Given the description of an element on the screen output the (x, y) to click on. 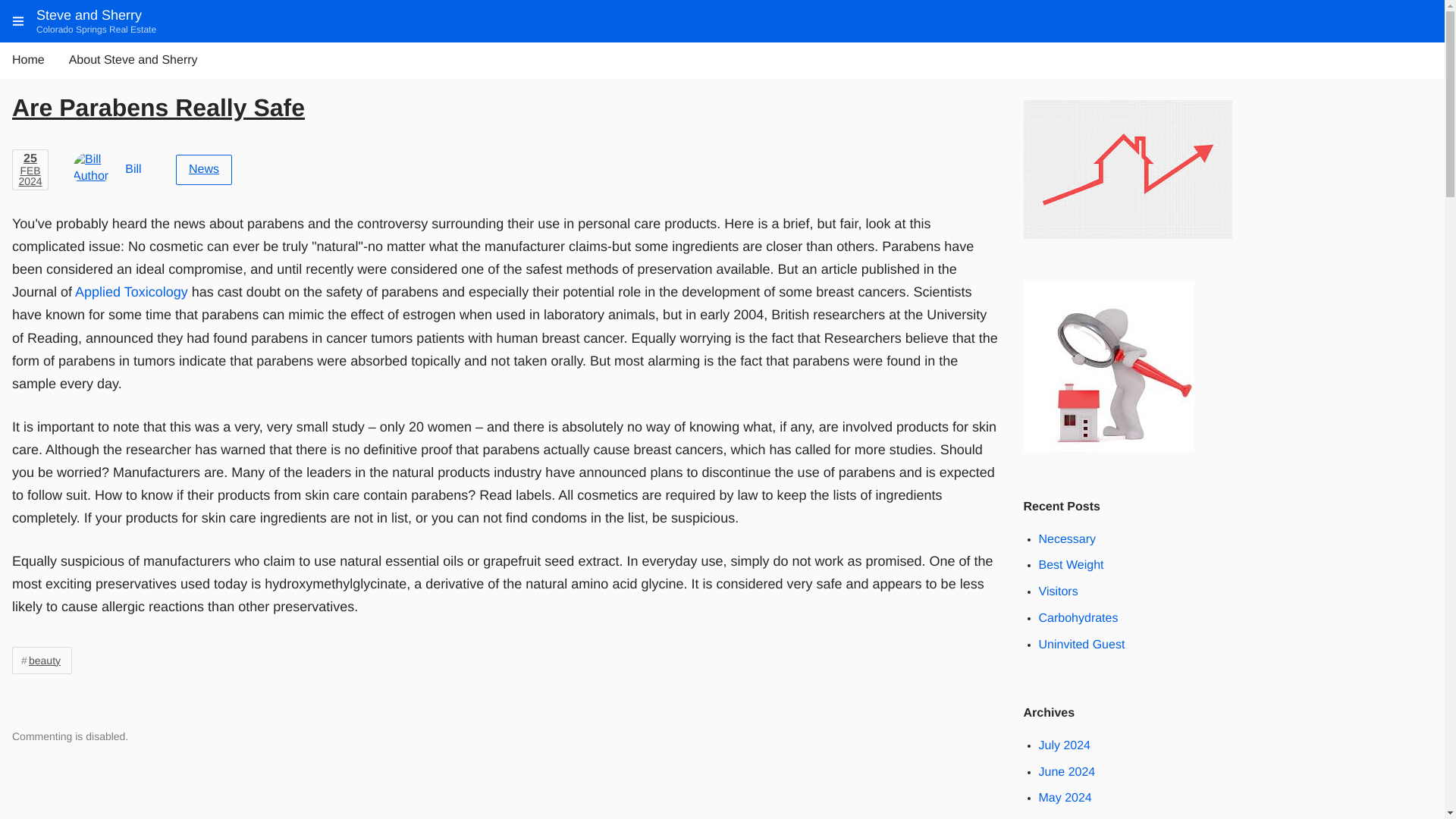
Colorado Springs Real Estate (95, 29)
About Steve and Sherry (132, 60)
Show Menu (18, 21)
Necessary (1067, 539)
Show Menu (18, 21)
July 2024 (1064, 745)
Steve and Sherry (88, 15)
Published by Bill (90, 169)
beauty (41, 660)
Bill (133, 169)
Applied Toxicology (131, 291)
Published by Bill (133, 169)
Uninvited Guest (1082, 644)
May 2024 (1065, 797)
Hide Comments (1029, 721)
